Given the description of an element on the screen output the (x, y) to click on. 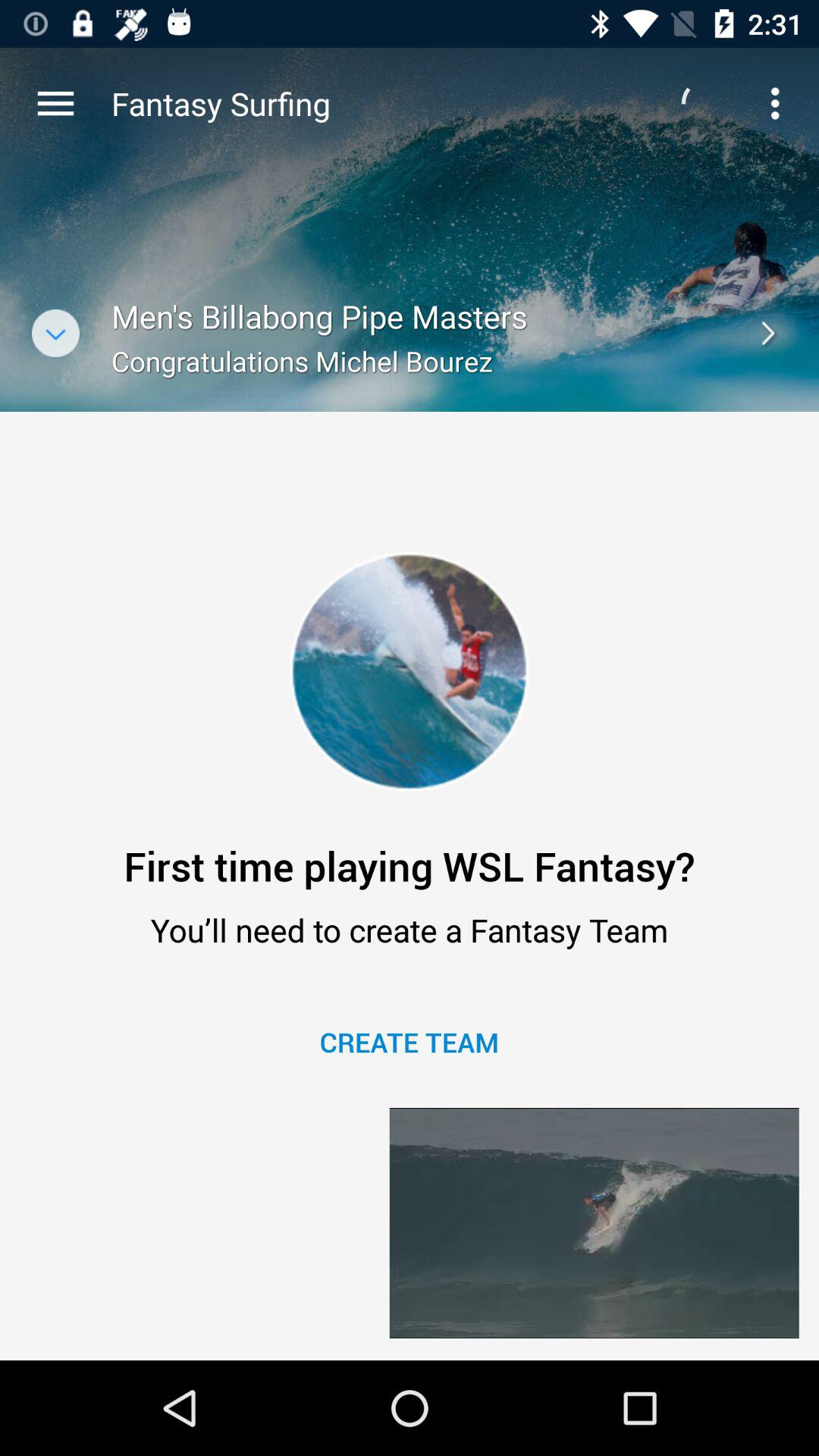
click to more information (55, 333)
